Given the description of an element on the screen output the (x, y) to click on. 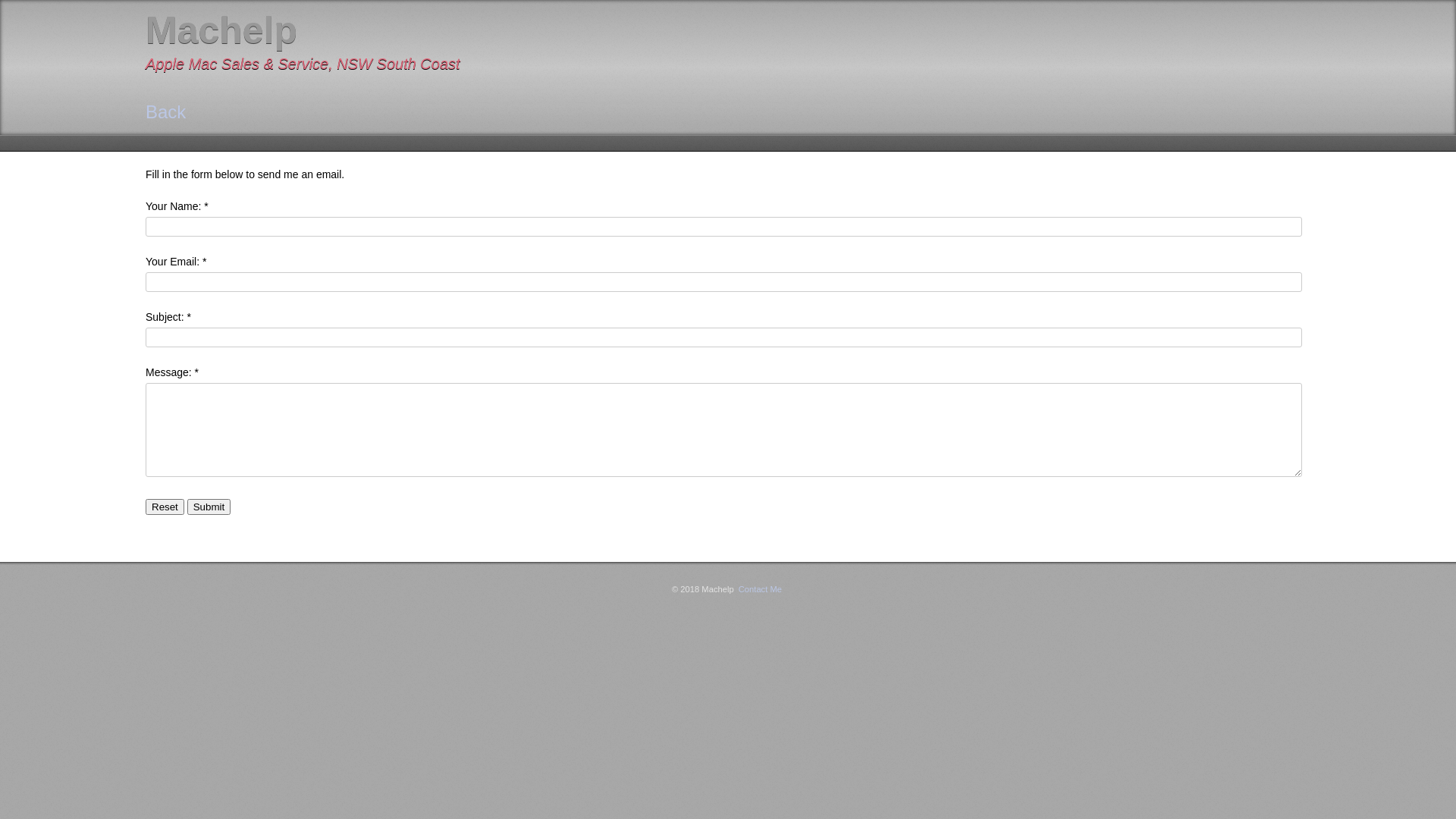
Submit Element type: text (208, 506)
Machelp Element type: text (221, 30)
Contact Me Element type: text (760, 588)
Back Element type: text (165, 111)
